Given the description of an element on the screen output the (x, y) to click on. 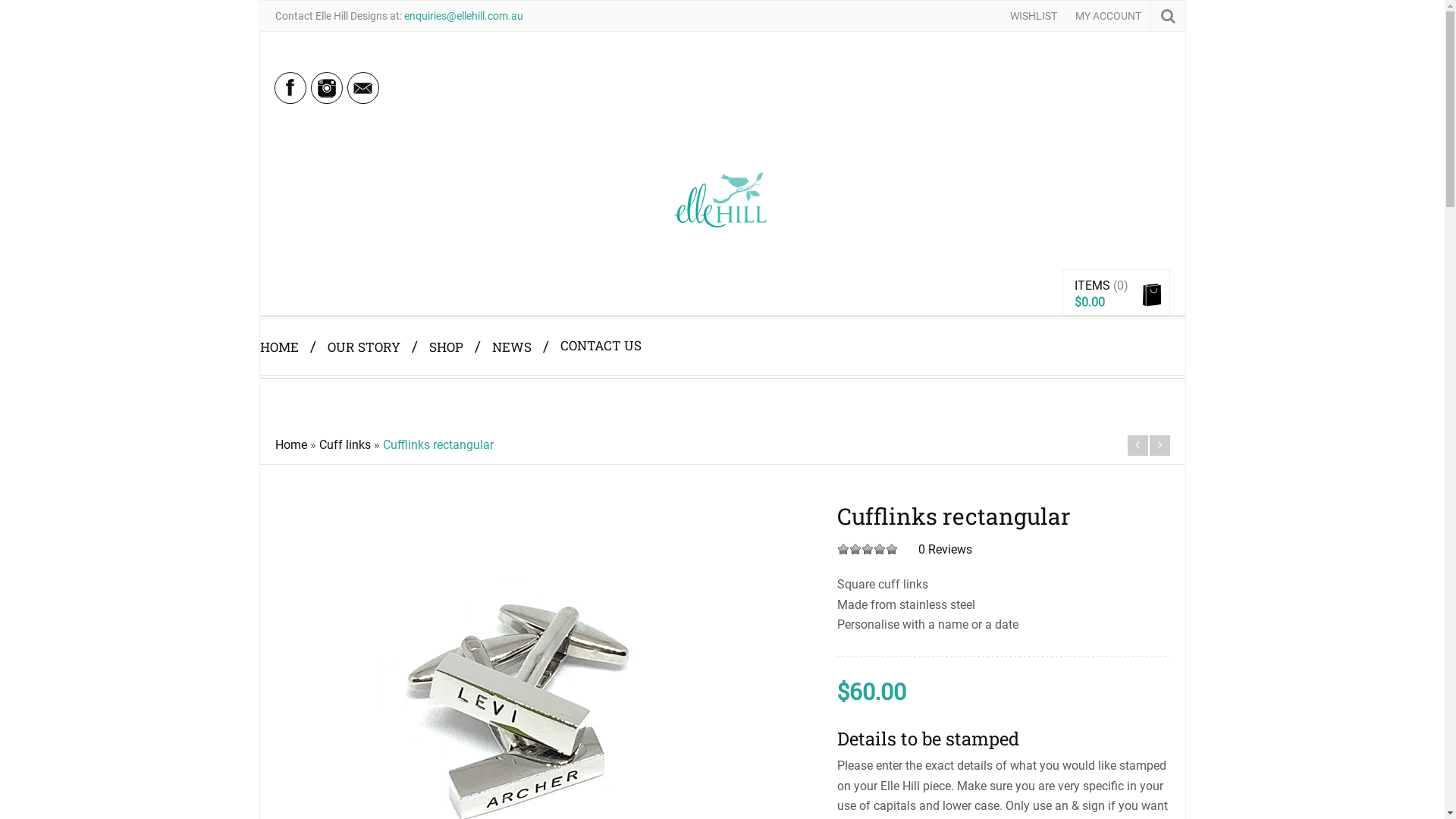
$0.00 Element type: text (1089, 301)
Email Element type: hover (365, 98)
(0) Element type: text (1120, 285)
Instagram Element type: hover (328, 98)
Home Element type: text (290, 444)
MY ACCOUNT Element type: text (1108, 12)
WISHLIST Element type: text (1033, 12)
SHOP Element type: text (454, 336)
ITEMS Element type: text (1092, 285)
OUR STORY Element type: text (372, 336)
Facebook Element type: hover (292, 98)
Cuff links Element type: text (344, 444)
NEWS Element type: text (519, 336)
Rated 0 out of 5 Element type: hover (867, 548)
HOME Element type: text (287, 336)
CONTACT US Element type: text (599, 335)
